Given the description of an element on the screen output the (x, y) to click on. 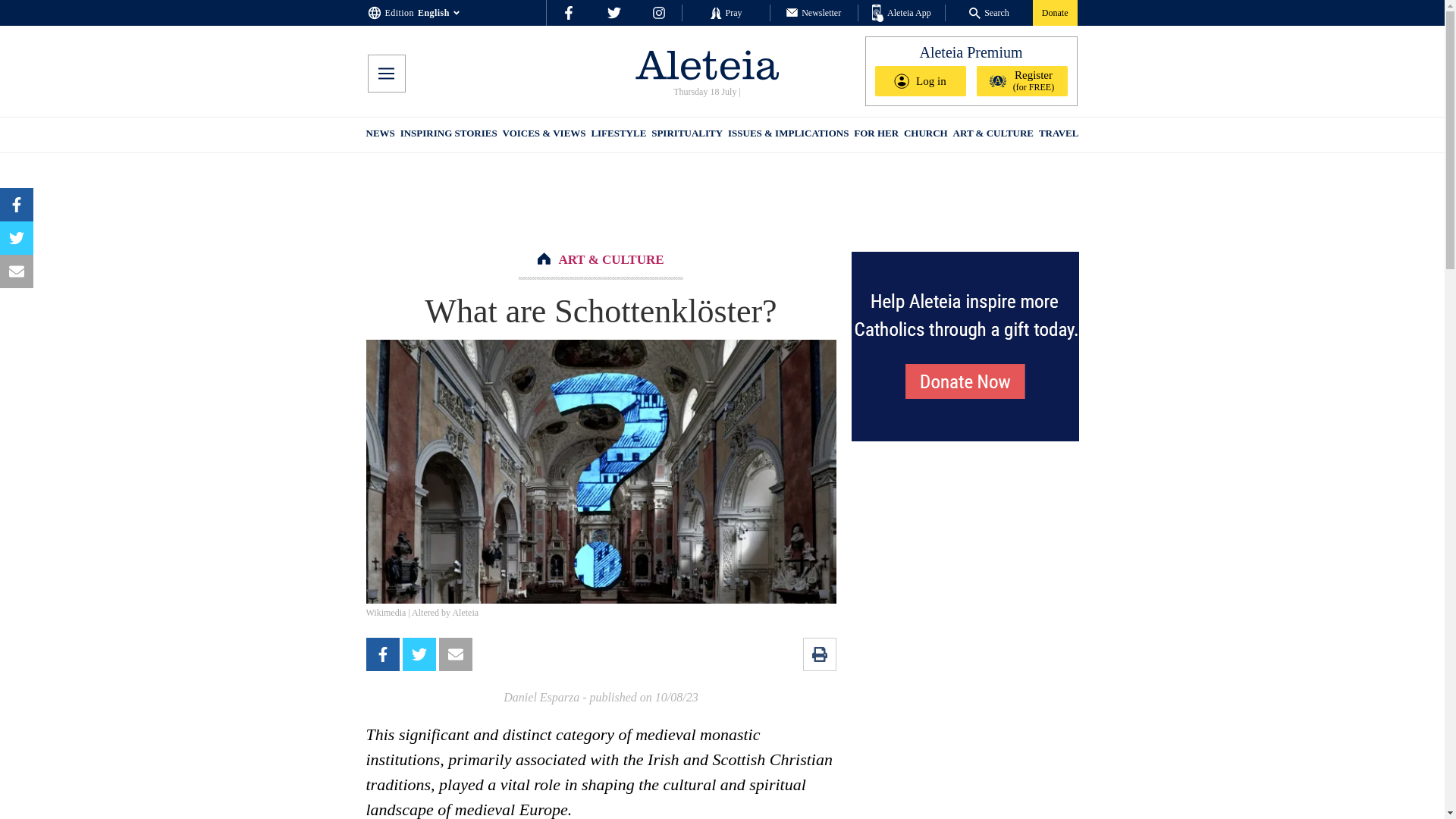
CHURCH (925, 134)
Log in (920, 81)
INSPIRING STORIES (448, 134)
Aleteia App (901, 13)
SPIRITUALITY (686, 134)
Donate (1054, 12)
Pray (725, 12)
LIFESTYLE (618, 134)
Newsletter (813, 12)
FOR HER (875, 134)
TRAVEL (1058, 134)
Search (989, 12)
